Given the description of an element on the screen output the (x, y) to click on. 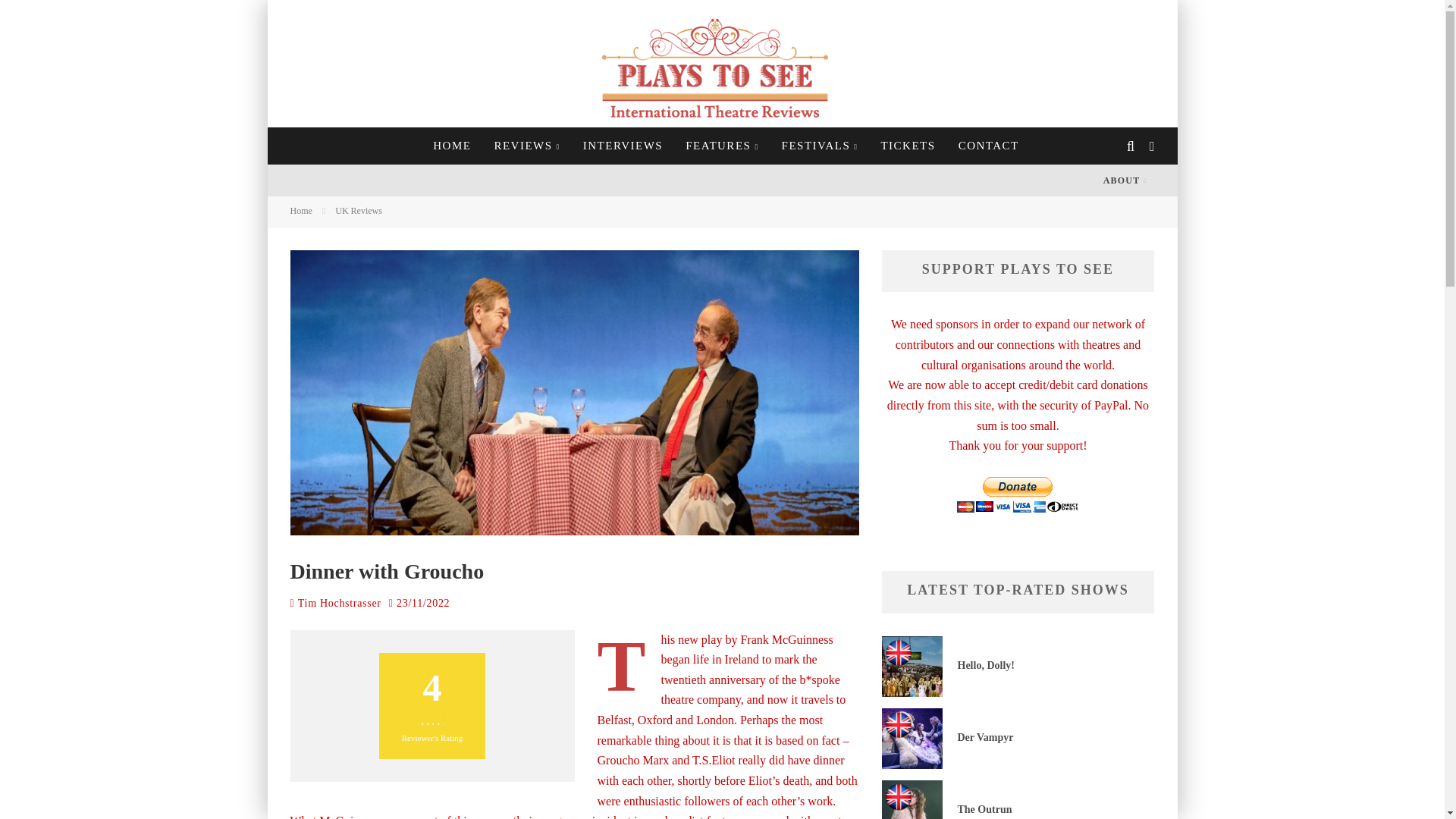
PayPal - The safer, easier way to pay online! (1017, 493)
HOME (451, 145)
REVIEWS (525, 145)
